Given the description of an element on the screen output the (x, y) to click on. 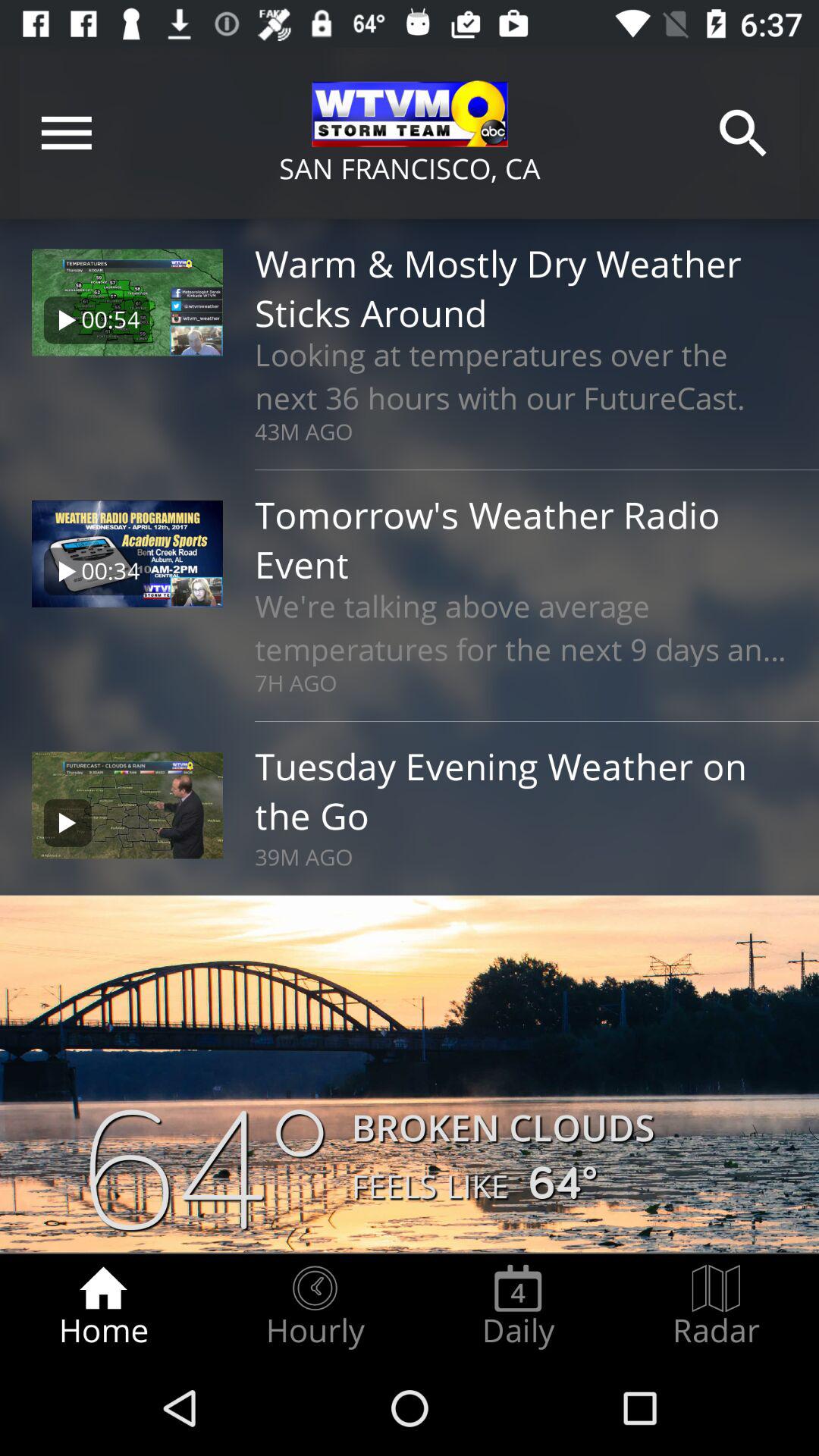
jump until radar radio button (716, 1307)
